Given the description of an element on the screen output the (x, y) to click on. 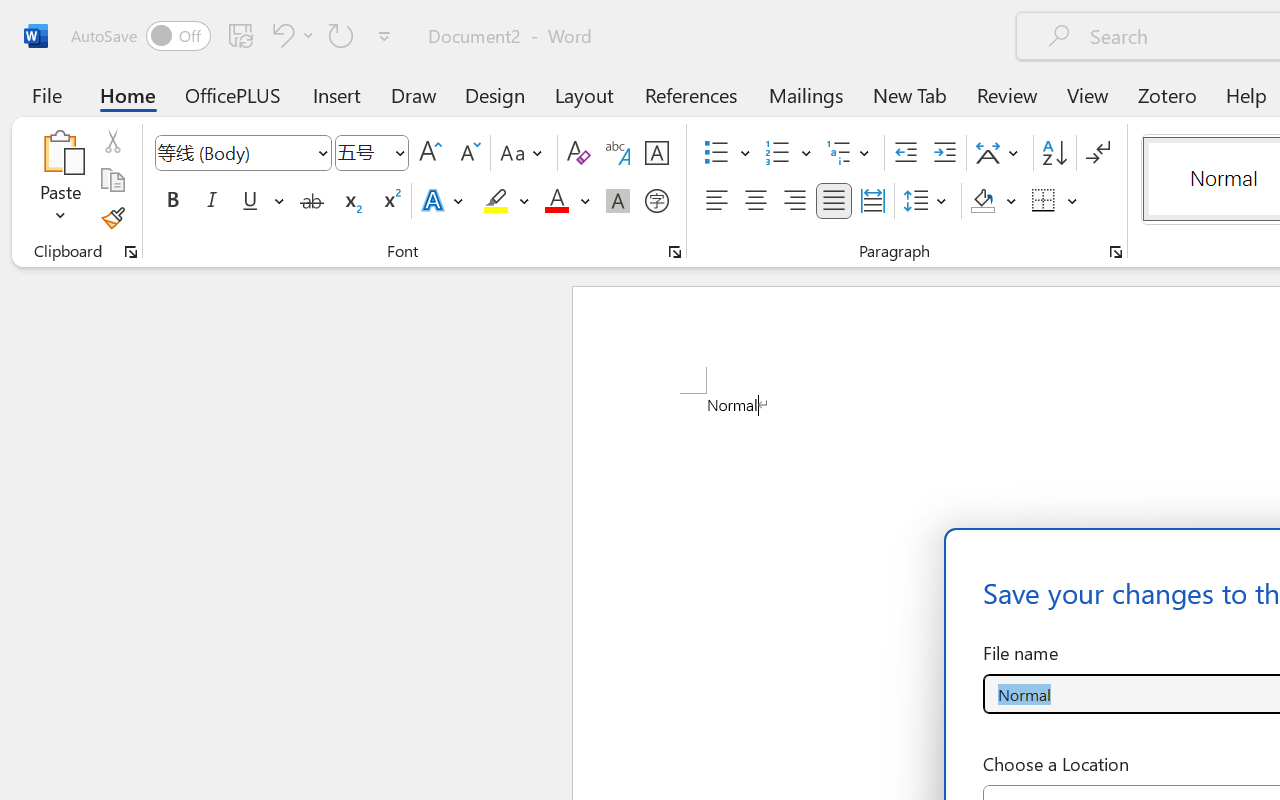
Multilevel List (850, 153)
Asian Layout (1000, 153)
Zotero (1166, 94)
Character Border (656, 153)
OfficePLUS (233, 94)
Font (234, 152)
Shading RGB(0, 0, 0) (982, 201)
Font Color (567, 201)
Bold (172, 201)
New Tab (909, 94)
Font Size (362, 152)
Office Clipboard... (131, 252)
Subscript (350, 201)
